Given the description of an element on the screen output the (x, y) to click on. 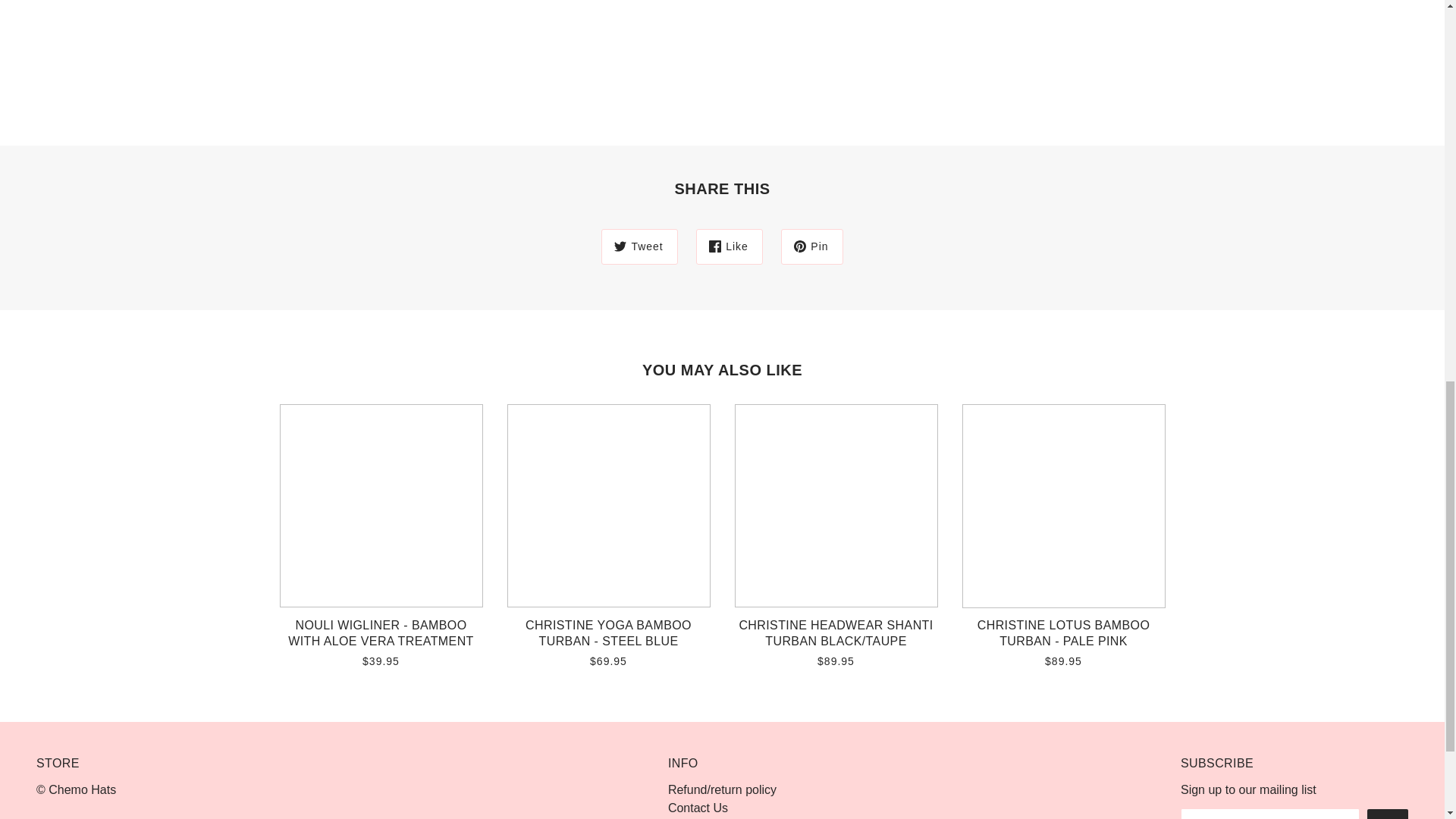
NOULI WIGLINER - BAMBOO WITH ALOE VERA TREATMENT (380, 638)
CHRISTINE YOGA BAMBOO TURBAN - STEEL BLUE (608, 638)
Ok (1387, 814)
Like (728, 247)
Contact Us (698, 807)
Tweet (639, 247)
Pin (811, 247)
